Given the description of an element on the screen output the (x, y) to click on. 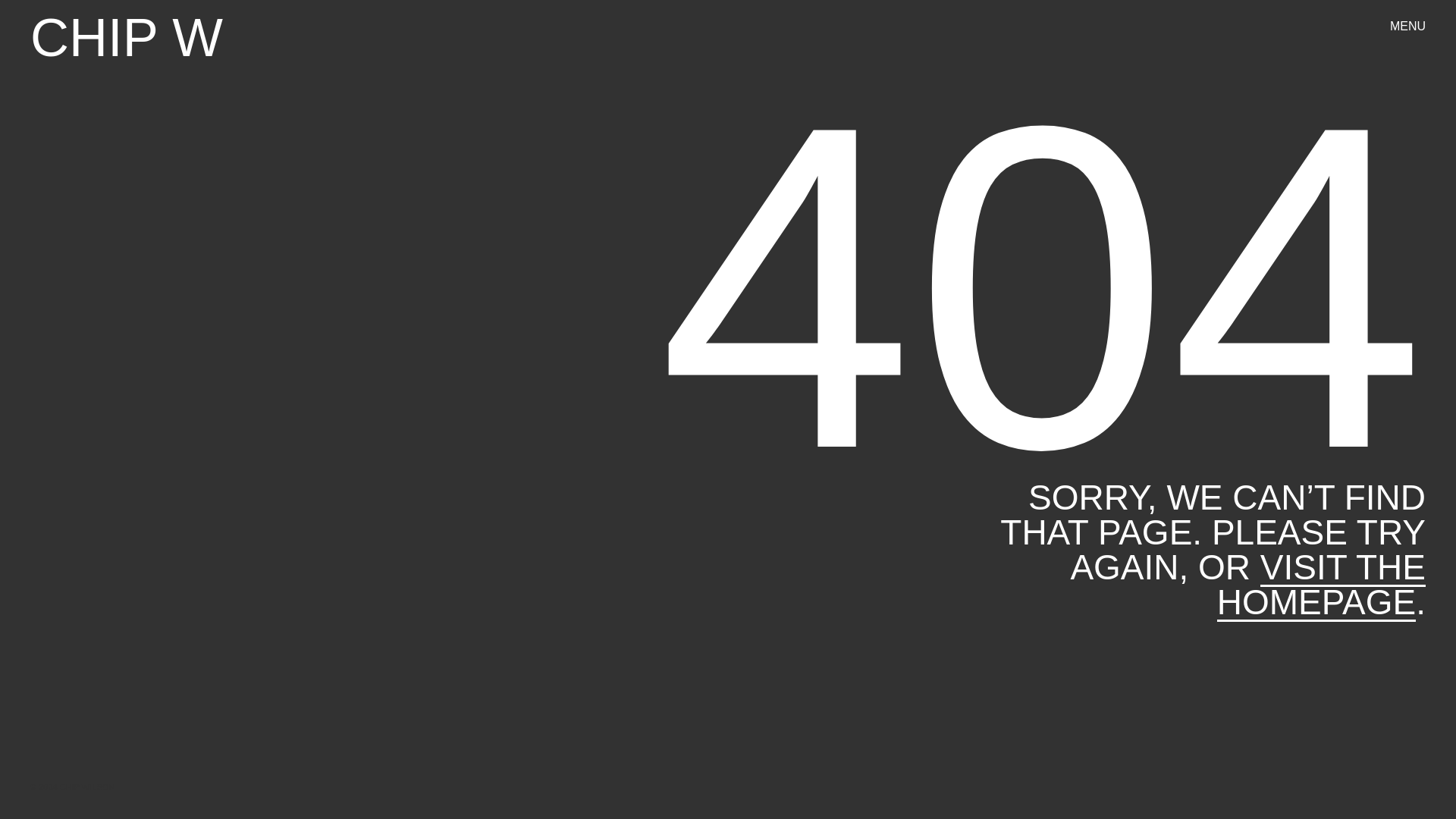
VISIT THE HOMEPAGE (1321, 584)
Chip Wilson (887, 360)
CHIP WILSON (126, 37)
Hold It All (1082, 360)
Wilson 5 Foundation (882, 600)
MENU (1407, 26)
Solve FSHD (1307, 360)
Low Tide Properties (1295, 600)
CHIP WILSON (126, 37)
